Given the description of an element on the screen output the (x, y) to click on. 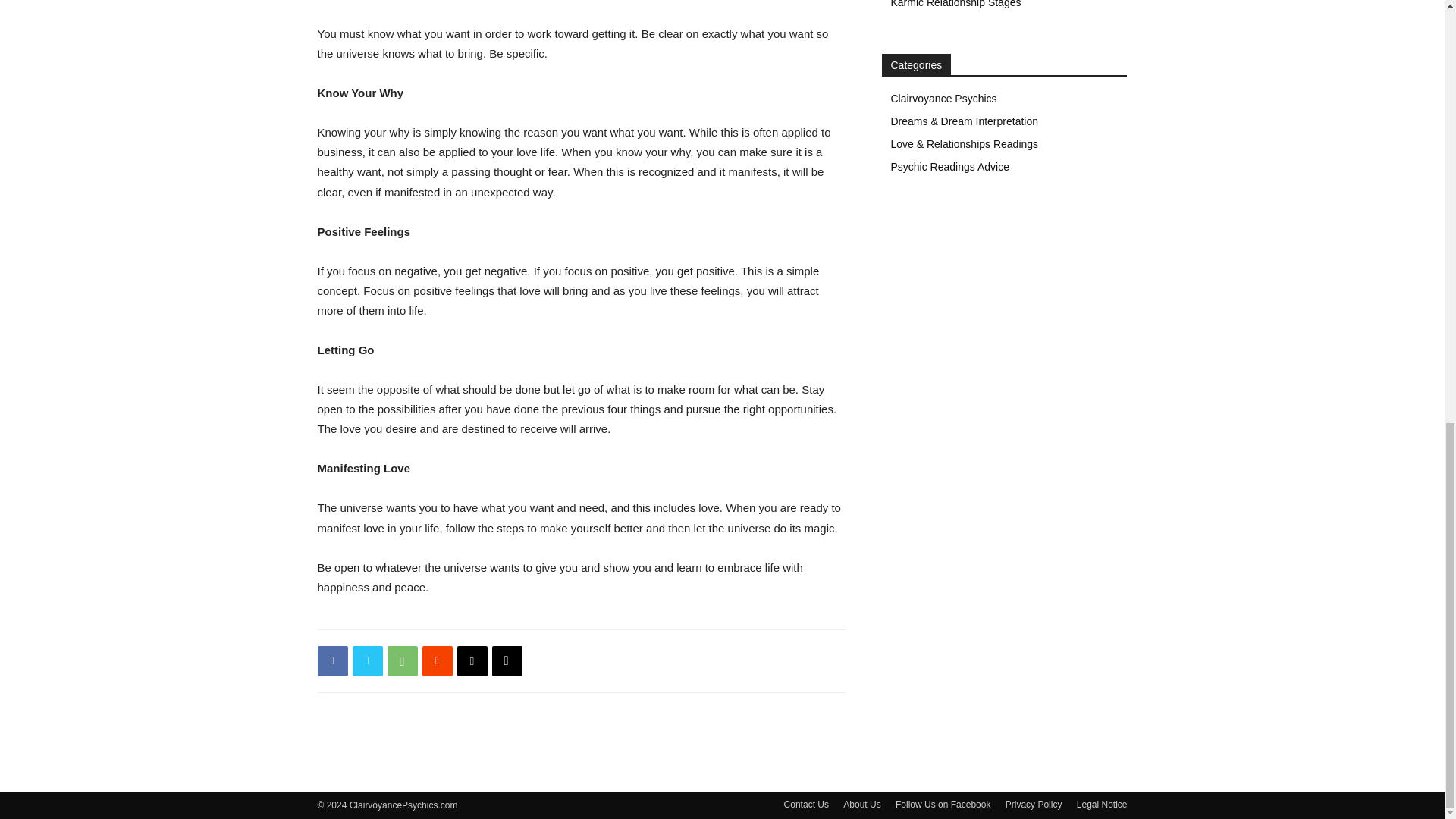
ReddIt (436, 661)
Twitter (366, 661)
Facebook (332, 661)
Copy URL (506, 661)
Email (471, 661)
WhatsApp (401, 661)
